Given the description of an element on the screen output the (x, y) to click on. 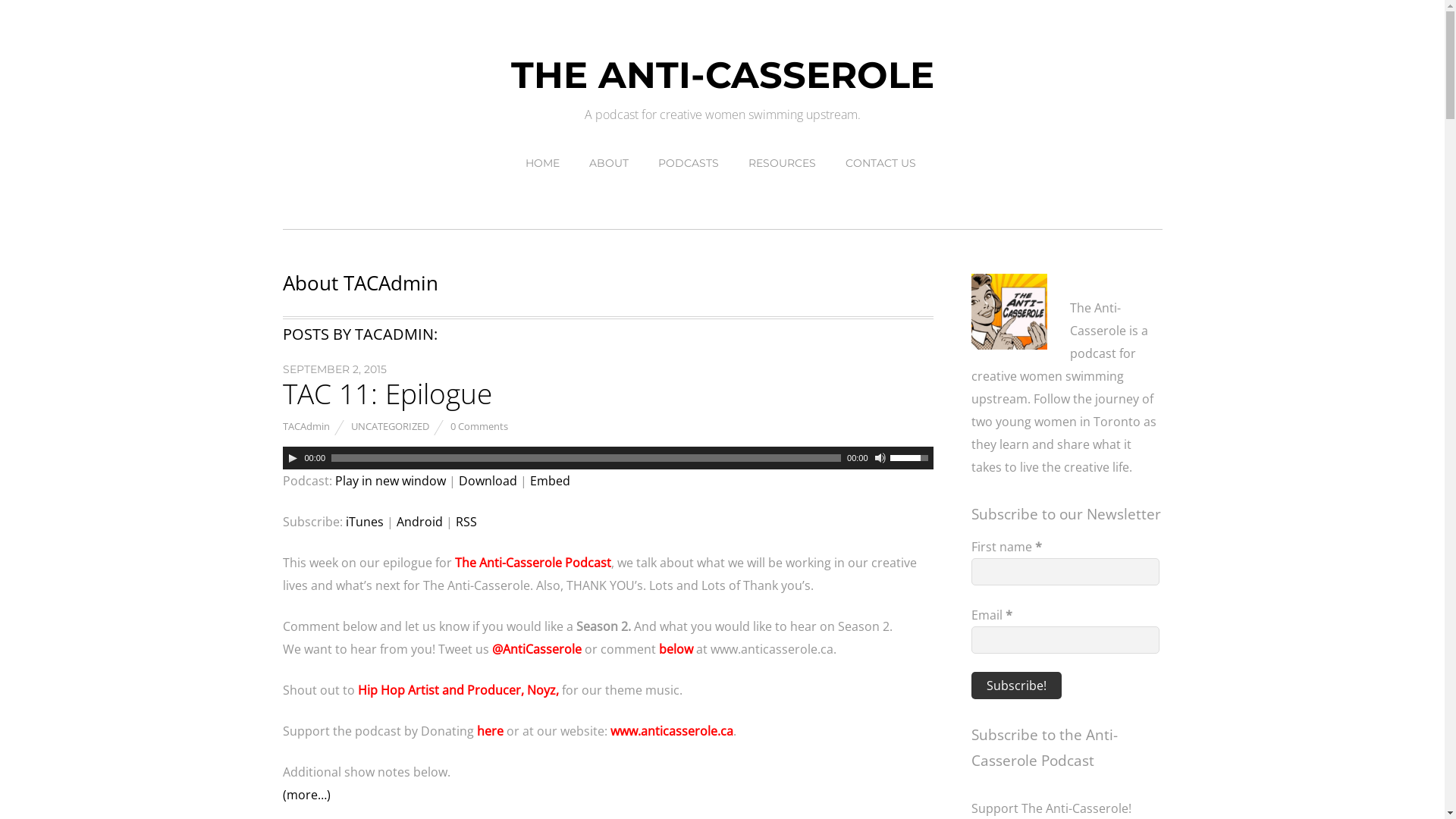
@AntiCasserole Element type: text (535, 648)
CONTACT US Element type: text (880, 162)
HOME Element type: text (542, 162)
TAC 11: Epilogue Element type: text (386, 393)
UNCATEGORIZED Element type: text (389, 426)
ABOUT Element type: text (608, 162)
RSS Element type: text (465, 521)
iTunes Element type: text (364, 521)
Mute Element type: hover (880, 457)
Subscribe! Element type: text (1015, 685)
PODCASTS Element type: text (687, 162)
Hip Hop Artist and Producer, Noyz, Element type: text (457, 689)
0 Comments Element type: text (479, 426)
TACAdmin Element type: text (305, 426)
here Element type: text (489, 730)
below Element type: text (675, 648)
Play in new window Element type: text (390, 480)
Email Element type: hover (1064, 639)
 The Anti-Casserole Podcast Element type: text (531, 562)
THE ANTI-CASSEROLE Element type: text (722, 75)
First name Element type: hover (1064, 571)
Embed Element type: text (549, 480)
Download Element type: text (487, 480)
www.anticasserole.ca Element type: text (670, 730)
Play Element type: hover (292, 457)
RESOURCES Element type: text (782, 162)
Android Element type: text (418, 521)
